Given the description of an element on the screen output the (x, y) to click on. 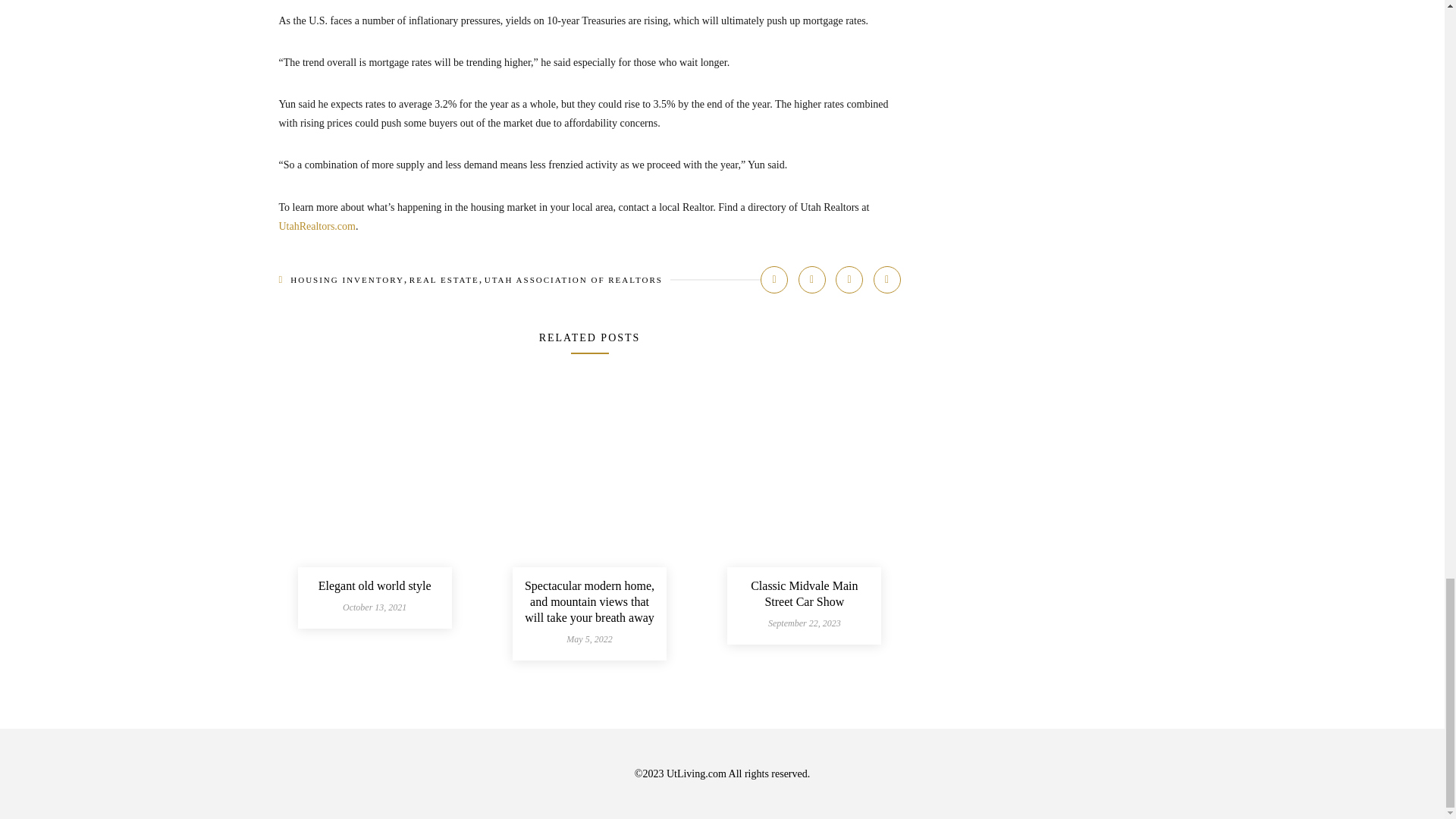
HOUSING INVENTORY (346, 279)
Classic Midvale Main Street Car Show (804, 593)
Click to share this post on Twitter (811, 279)
UtahRealtors.com (317, 225)
Elegant old world style (374, 585)
UTAH ASSOCIATION OF REALTORS (573, 279)
REAL ESTATE (444, 279)
